Given the description of an element on the screen output the (x, y) to click on. 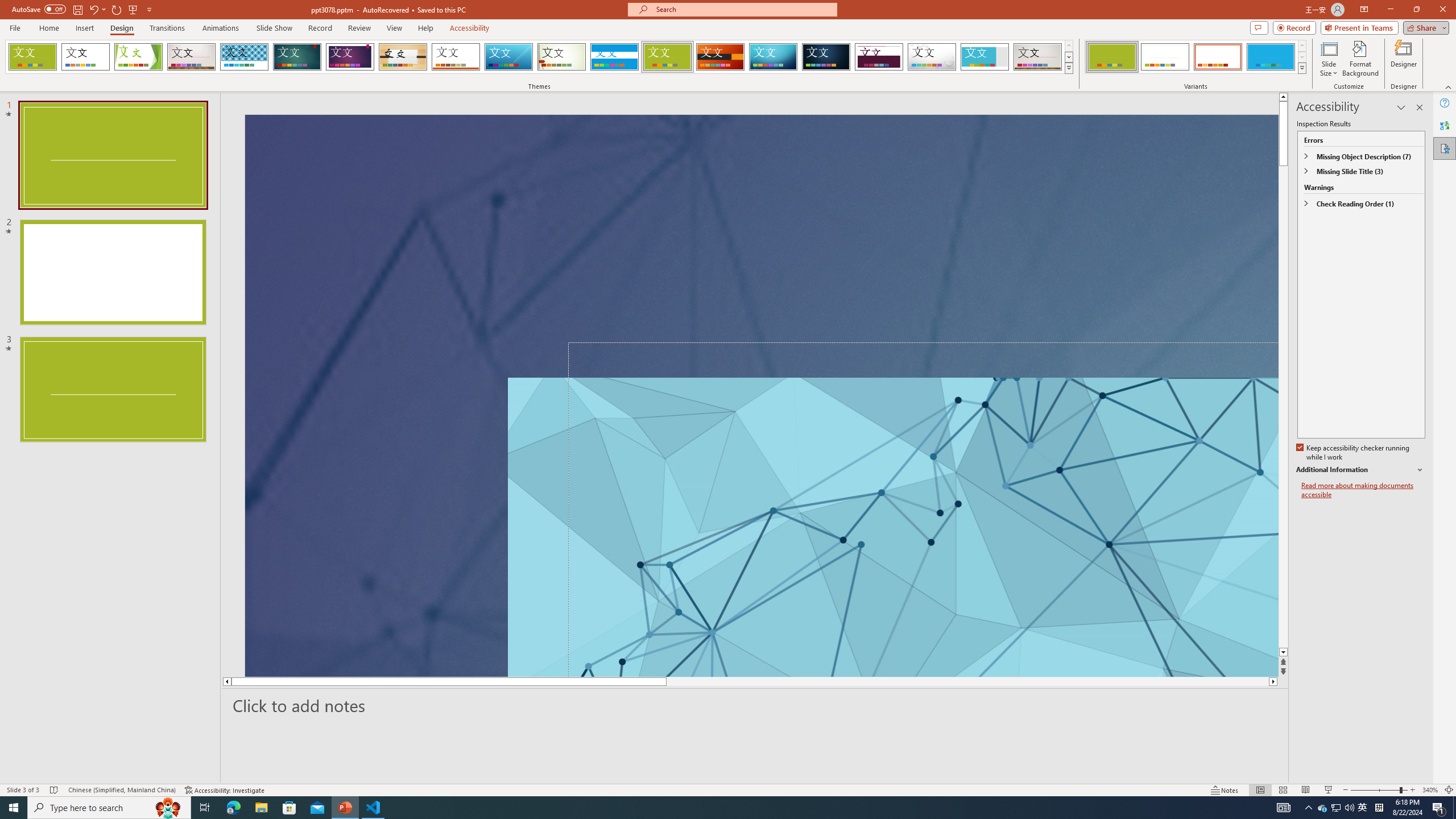
AutomationID: SlideThemesGallery (539, 56)
Banded (614, 56)
Wisp (561, 56)
